Given the description of an element on the screen output the (x, y) to click on. 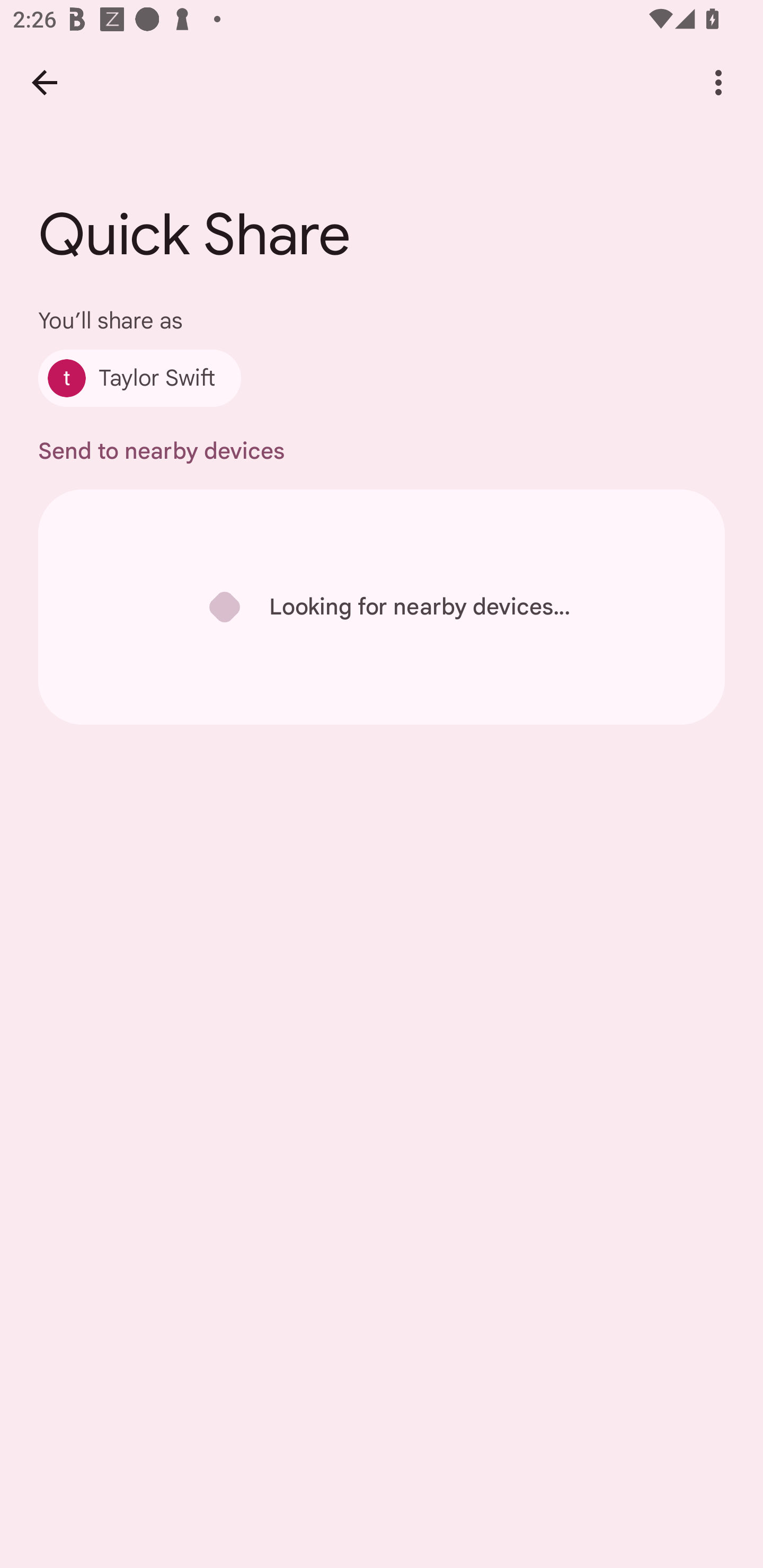
Back (44, 81)
More (718, 81)
Taylor Swift (139, 378)
